Given the description of an element on the screen output the (x, y) to click on. 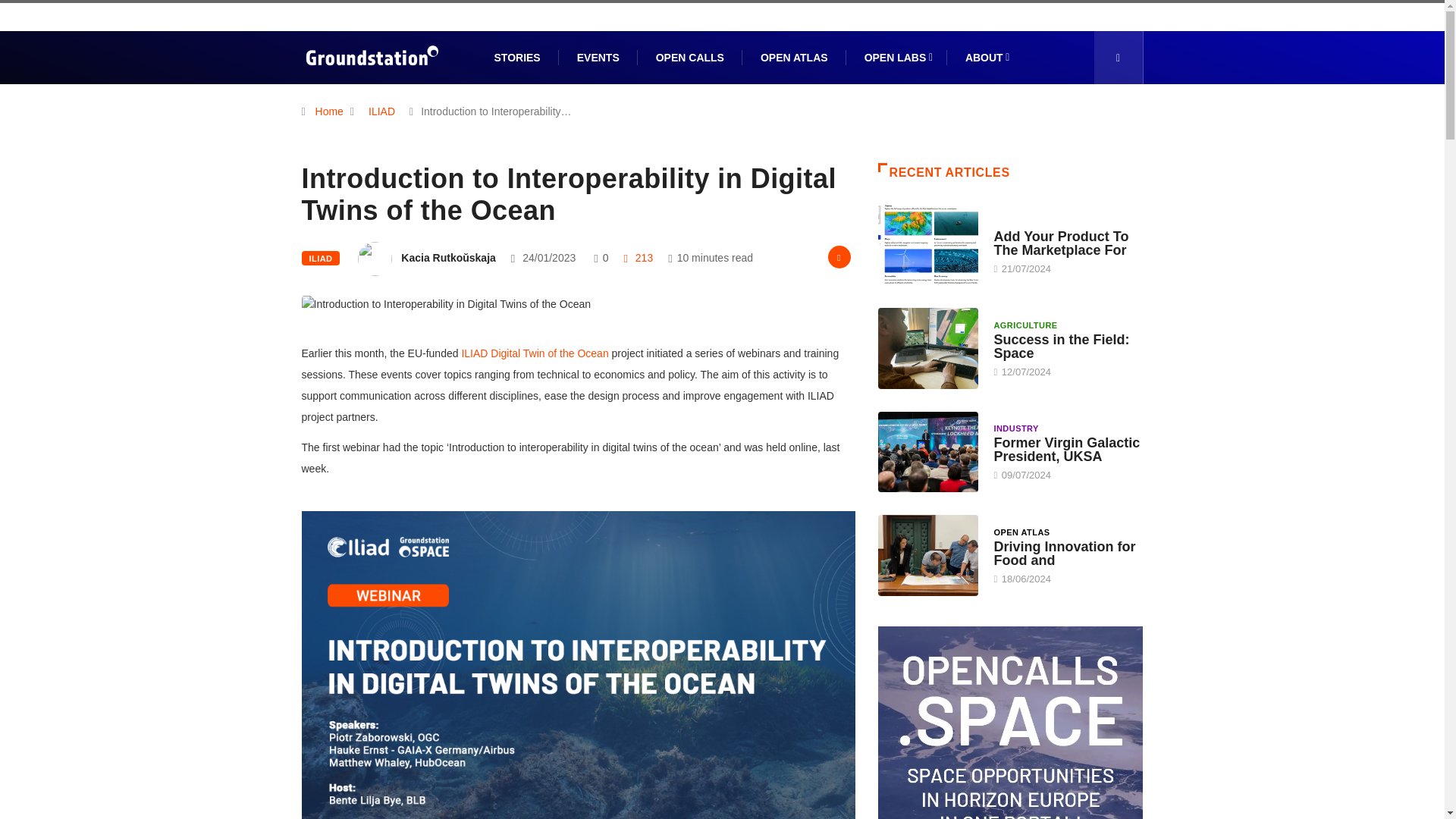
popup modal for search (1117, 57)
ILIAD (381, 111)
OPEN LABS (896, 57)
Success in the Field: Space for Water and Food Security (1060, 346)
OPEN CALLS (689, 57)
ILIAD (320, 257)
ILIAD Digital Twin of the Ocean (534, 353)
